Given the description of an element on the screen output the (x, y) to click on. 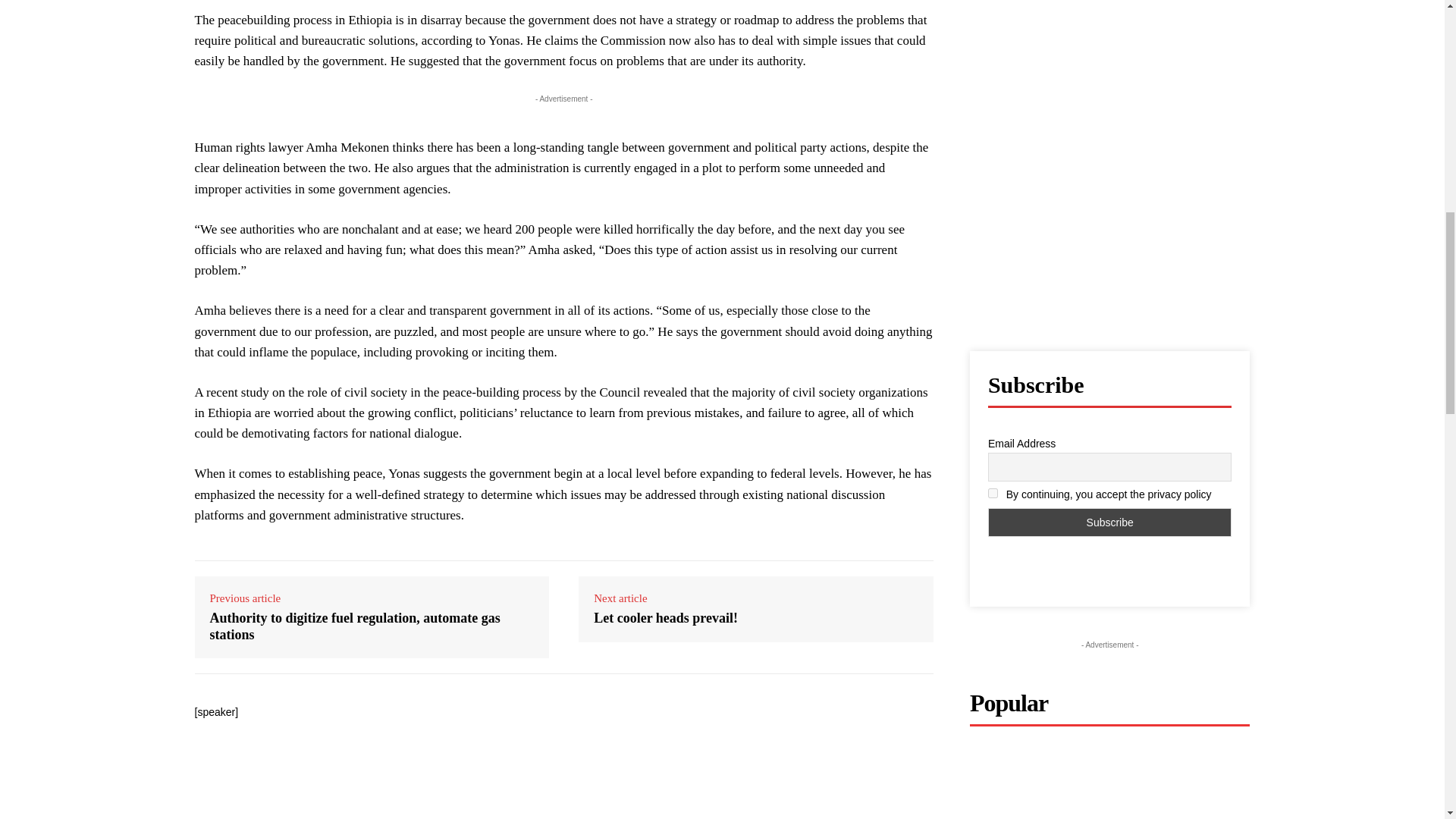
Subscribe (1109, 522)
on (992, 492)
